Given the description of an element on the screen output the (x, y) to click on. 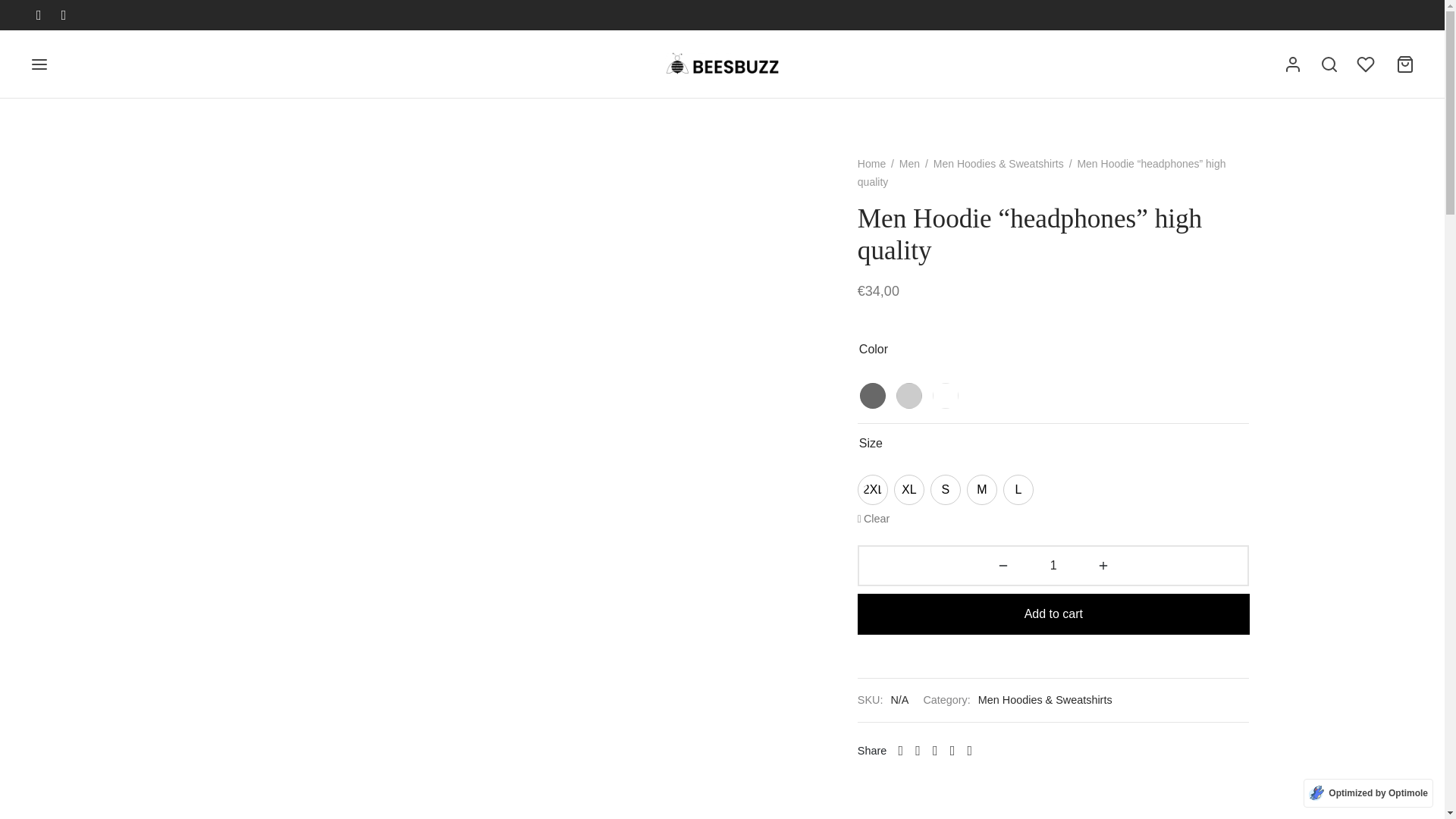
S (945, 490)
White (945, 395)
Add to cart (1053, 613)
L (1018, 490)
Dark Grey Heather (872, 395)
M (981, 490)
Clear (873, 518)
Men (909, 163)
2XL (872, 490)
1 (1053, 565)
